Given the description of an element on the screen output the (x, y) to click on. 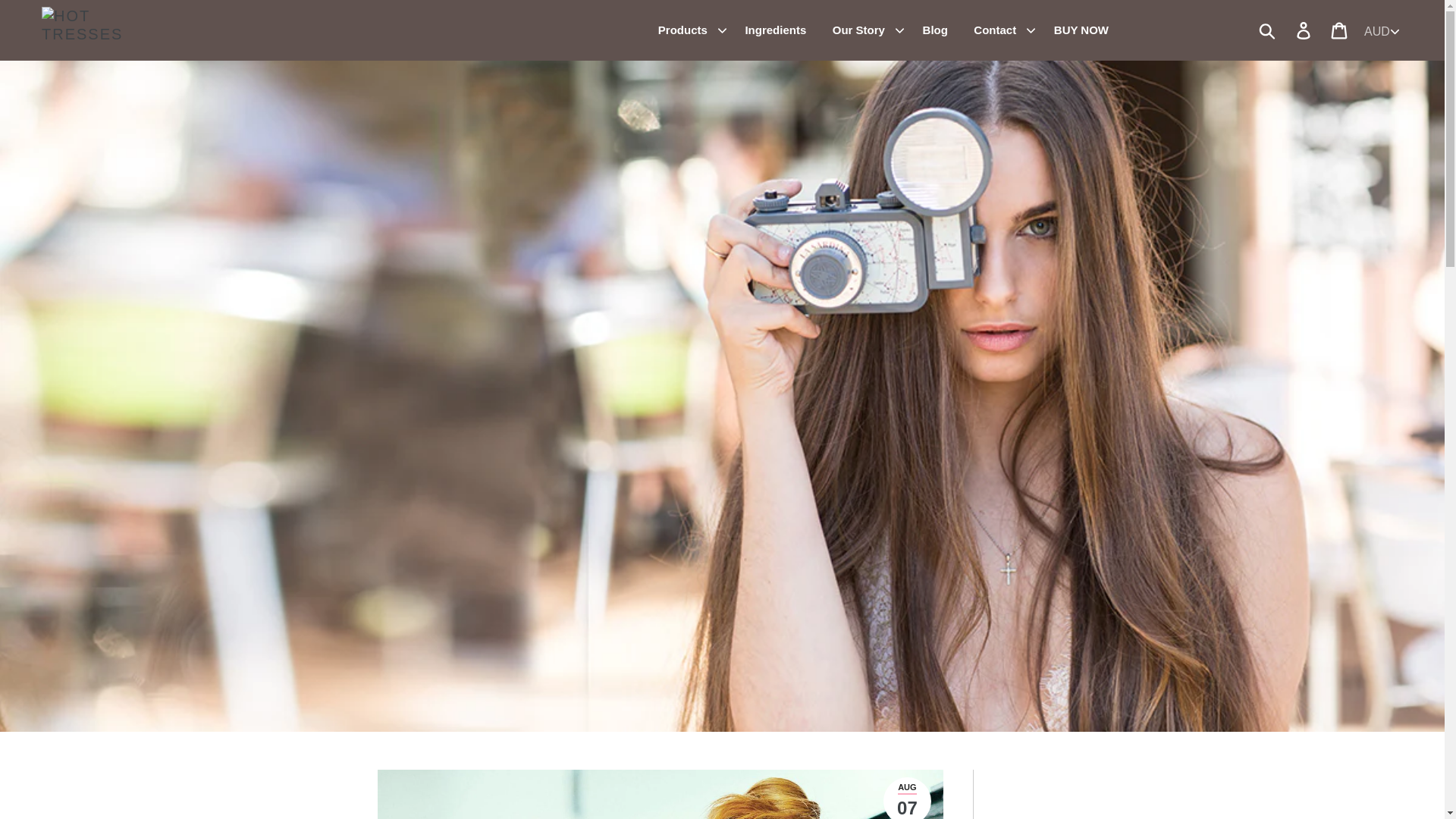
Blog (935, 29)
Contact (996, 29)
Products (683, 29)
BUY NOW (1081, 29)
Cart (1340, 29)
Ingredients (774, 29)
Our Story (860, 29)
Submit (1268, 29)
Log in (1304, 29)
